Given the description of an element on the screen output the (x, y) to click on. 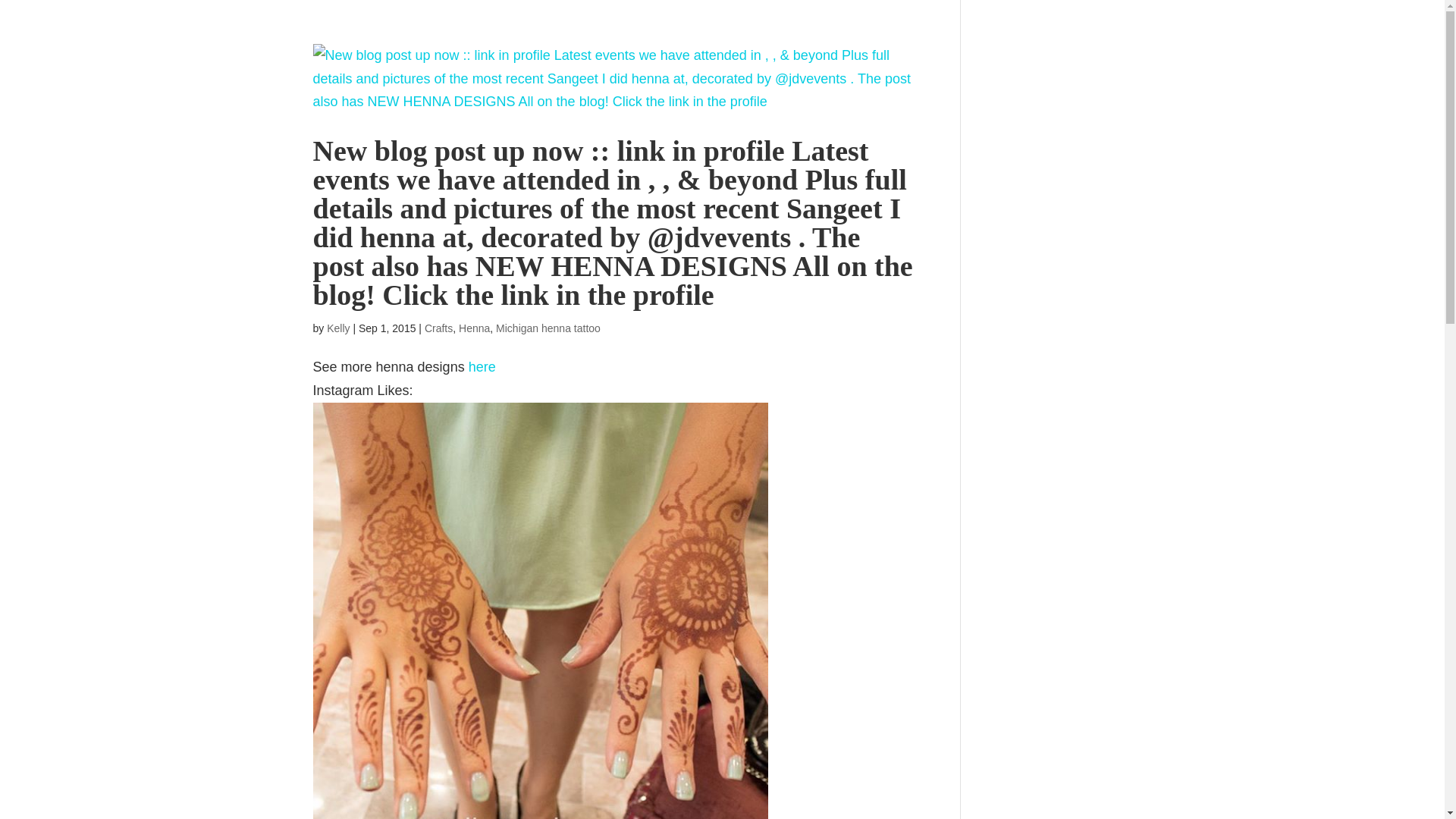
Crafts (438, 328)
Michigan henna tattoo (547, 328)
here (482, 366)
Henna (473, 328)
Kelly (337, 328)
Posts by Kelly (337, 328)
